Given the description of an element on the screen output the (x, y) to click on. 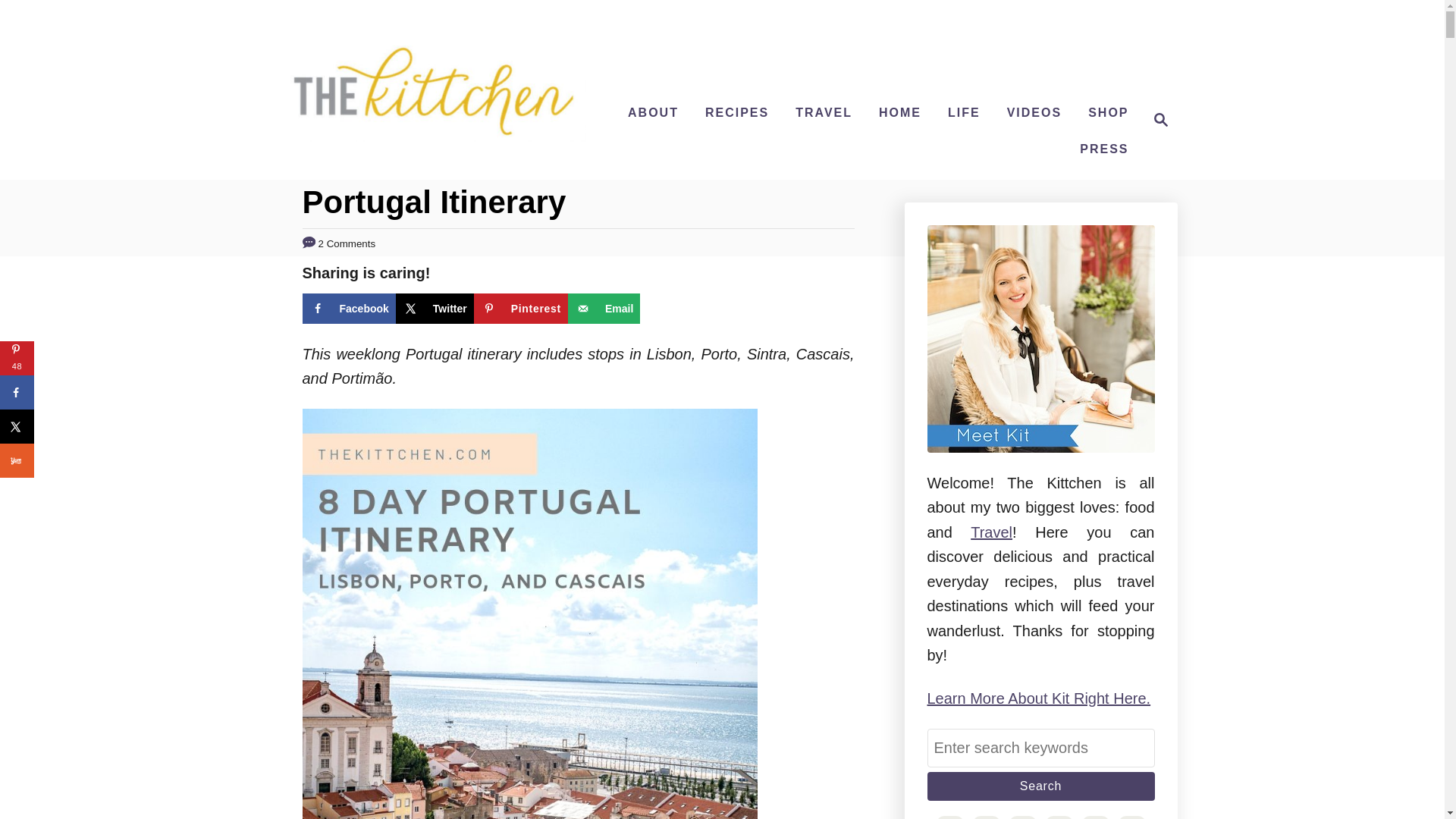
Magnifying Glass (1160, 119)
Search (1040, 786)
ABOUT (652, 112)
PRESS (1155, 119)
Share on X (1103, 149)
Twitter (435, 308)
Skip to Content (435, 308)
Pinterest (964, 112)
VIDEOS (520, 308)
Save to Pinterest (1033, 112)
SHOP (520, 308)
TRAVEL (1107, 112)
Send over email (823, 112)
